Given the description of an element on the screen output the (x, y) to click on. 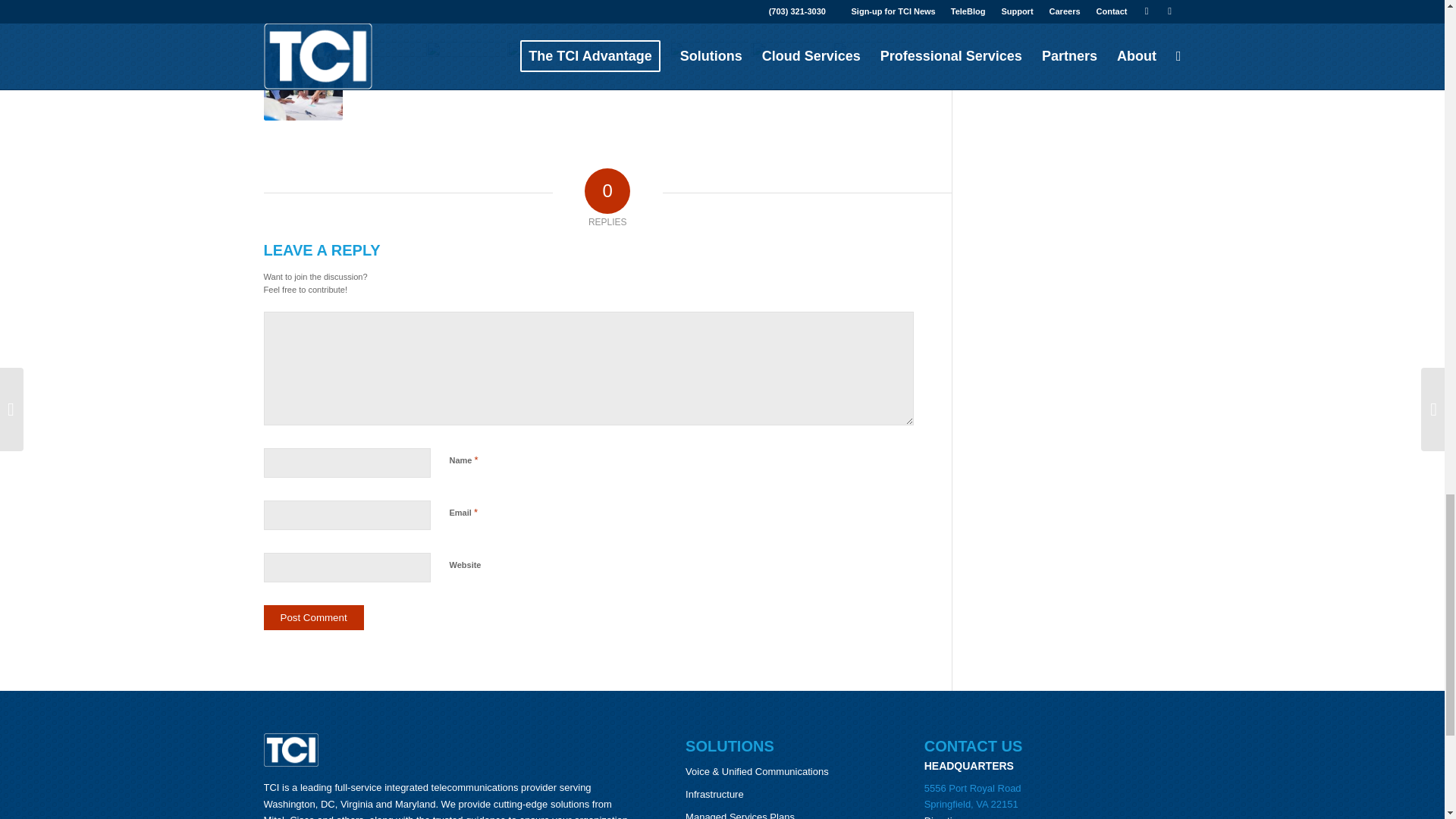
Post Comment (313, 617)
